Given the description of an element on the screen output the (x, y) to click on. 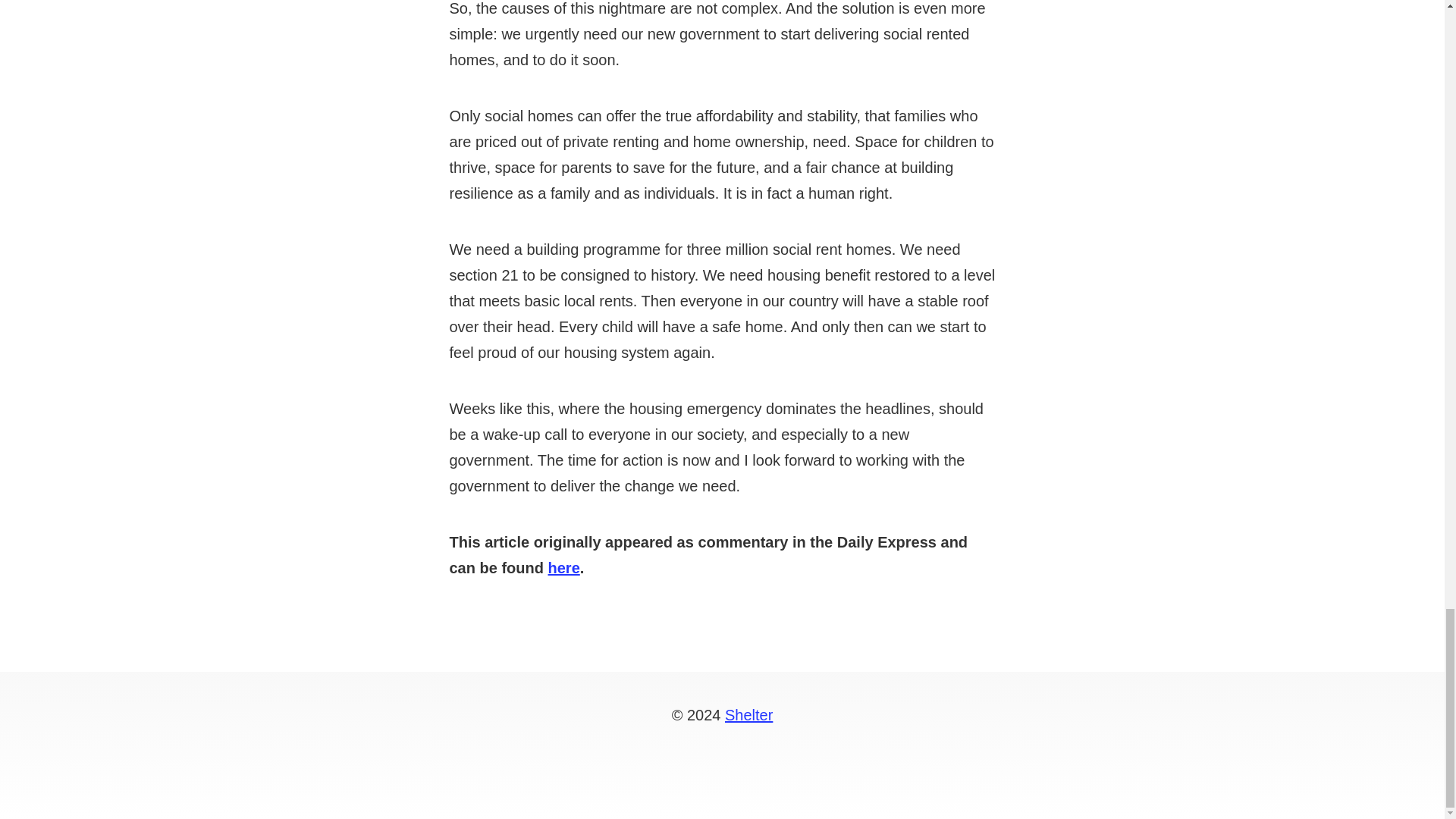
here (563, 567)
Shelter (749, 714)
